Given the description of an element on the screen output the (x, y) to click on. 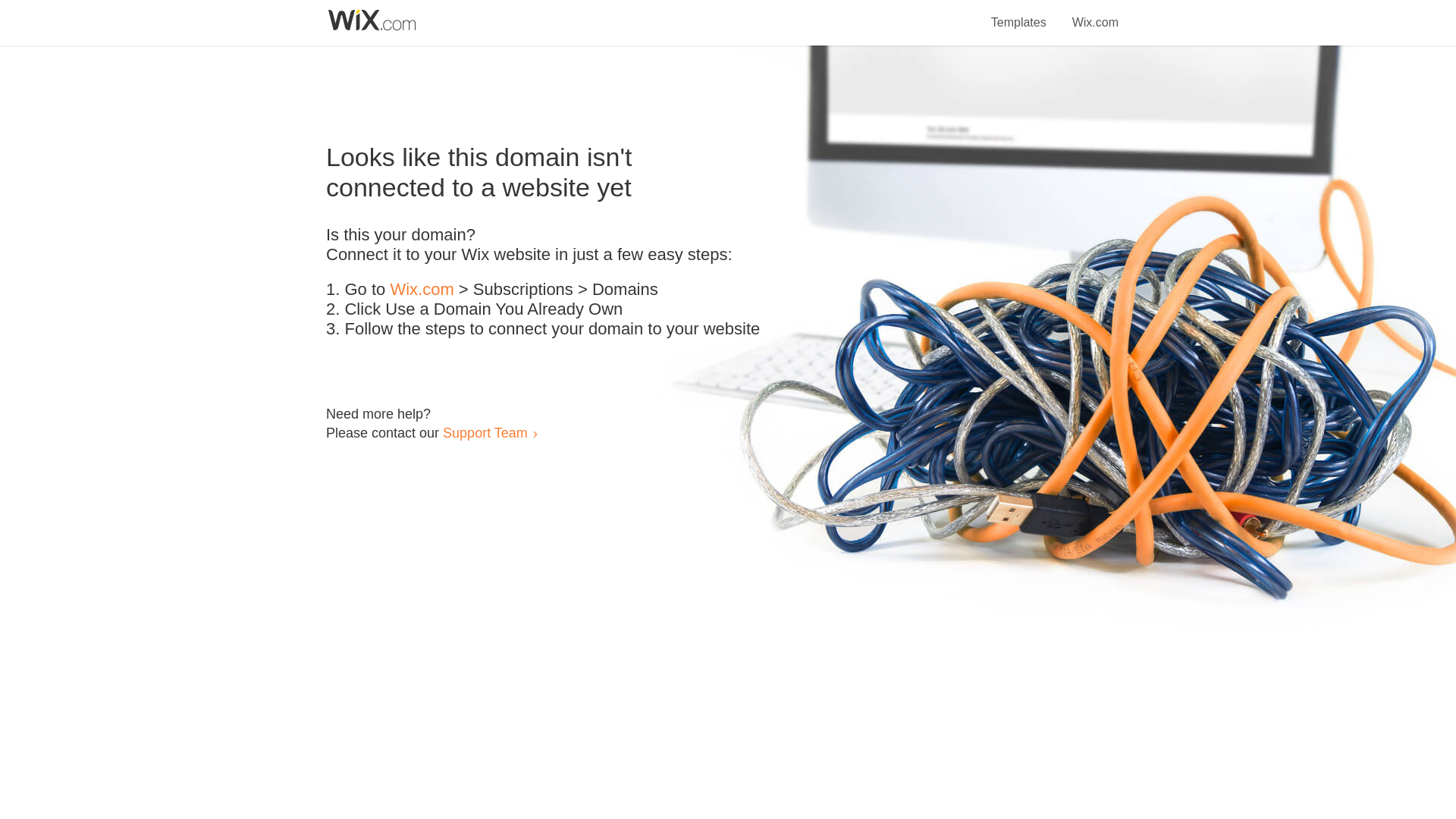
Wix.com (1095, 14)
Wix.com (421, 289)
Support Team (484, 432)
Templates (1018, 14)
